Given the description of an element on the screen output the (x, y) to click on. 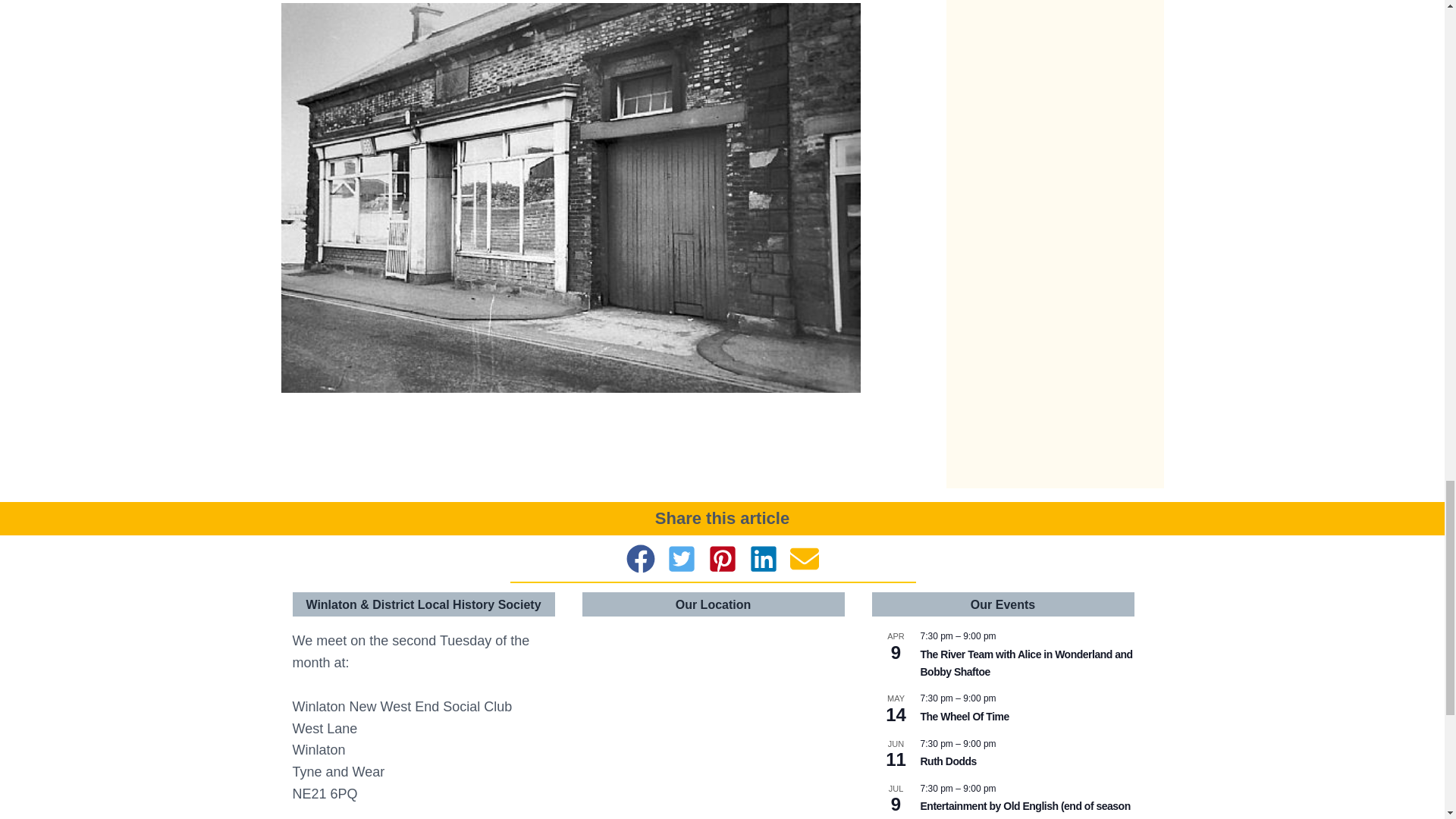
Google Map for  (713, 721)
Ruth Dodds (948, 761)
The Wheel Of Time (964, 716)
The River Team with Alice in Wonderland and Bobby Shaftoe (1026, 663)
